Given the description of an element on the screen output the (x, y) to click on. 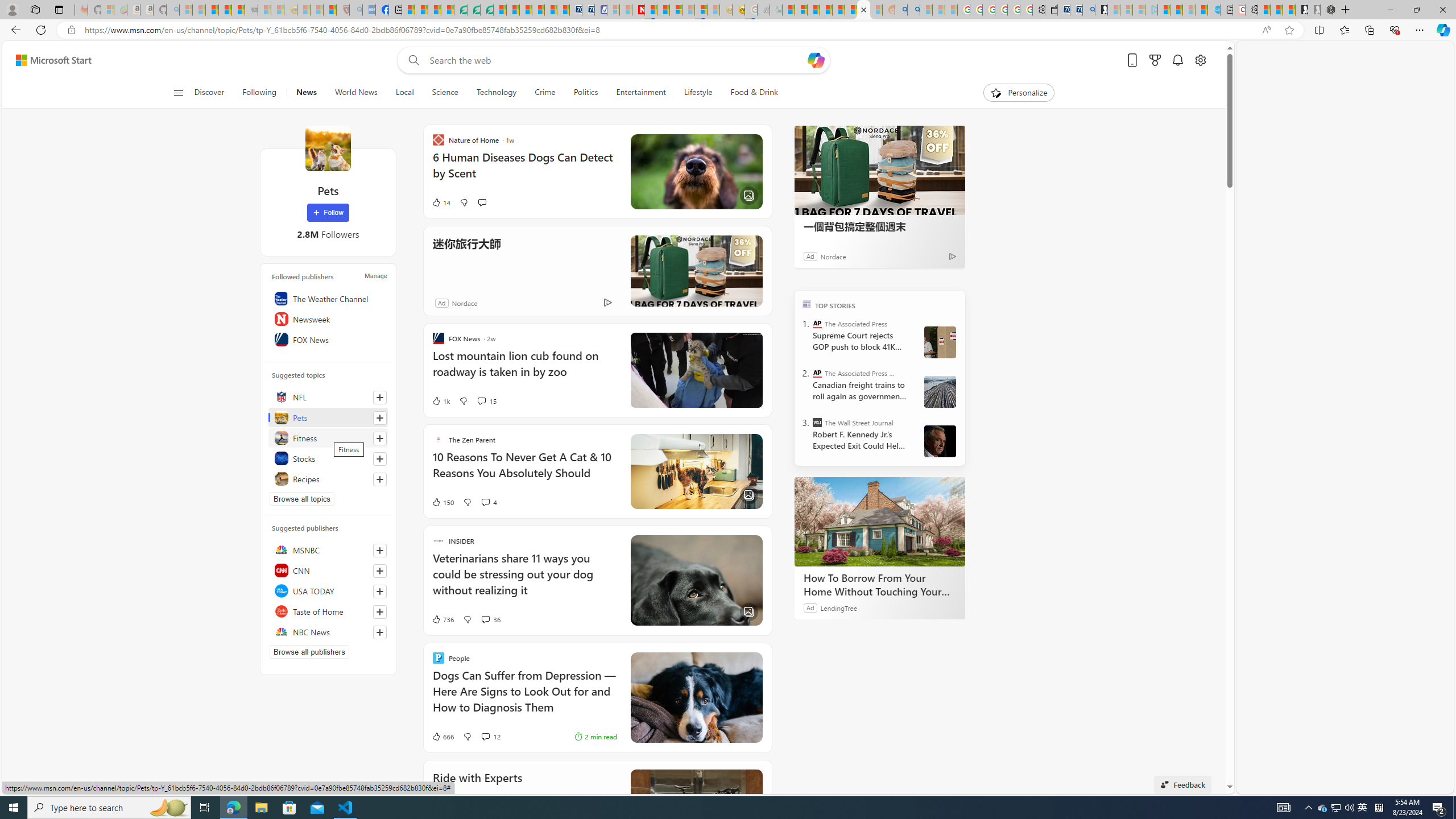
Microsoft Start - Sleeping (1188, 9)
Enter your search term (617, 59)
Politics (585, 92)
Settings and more (Alt+F) (1419, 29)
Science (444, 92)
Stocks (327, 458)
World - MSN (434, 9)
The Wall Street Journal (816, 422)
Crime (544, 92)
Following (258, 92)
Add this page to favorites (Ctrl+D) (1289, 29)
